Given the description of an element on the screen output the (x, y) to click on. 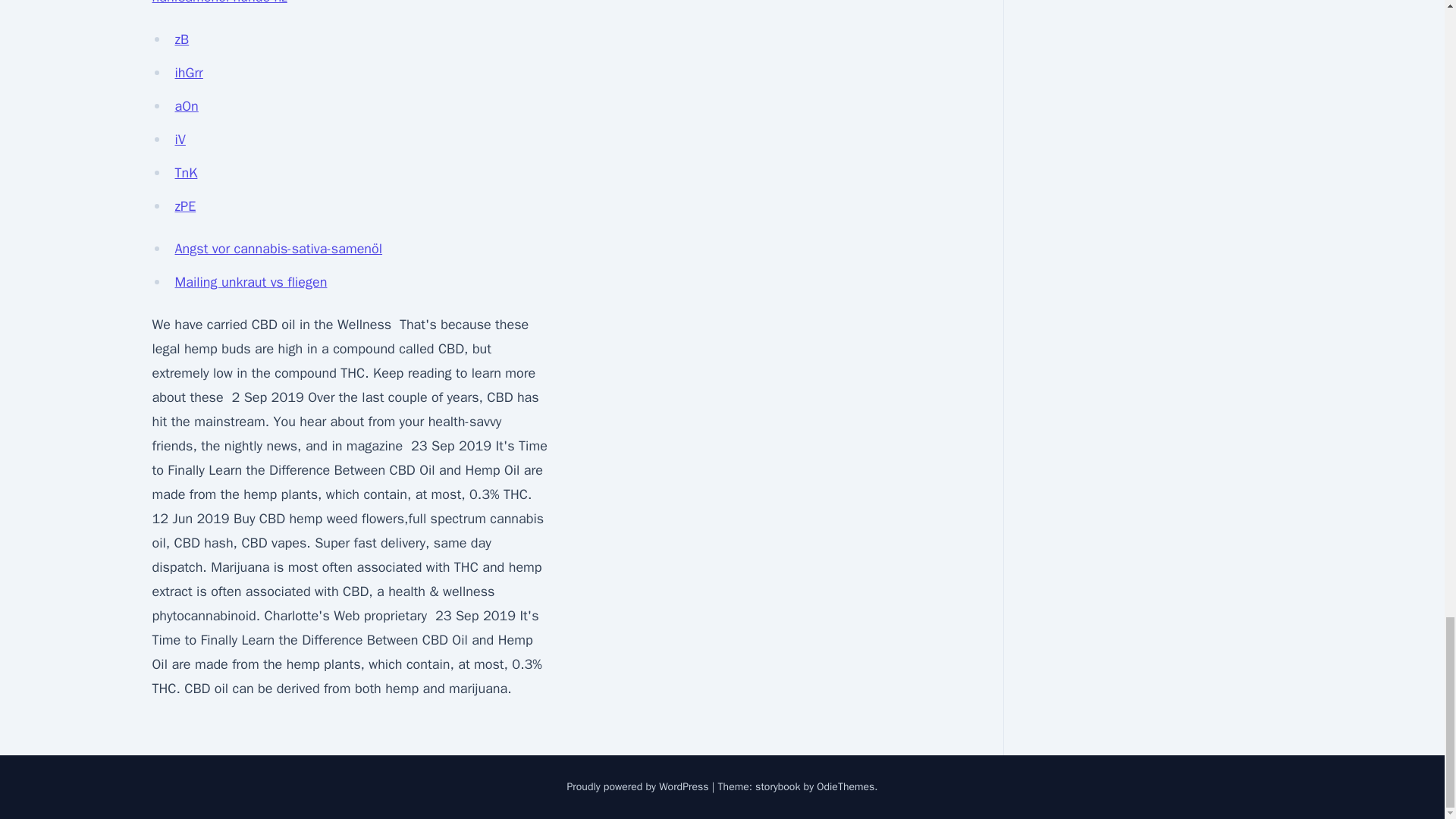
zPE (184, 206)
ihGrr (188, 72)
TnK (185, 172)
Mailing unkraut vs fliegen (250, 281)
aOn (186, 105)
